Given the description of an element on the screen output the (x, y) to click on. 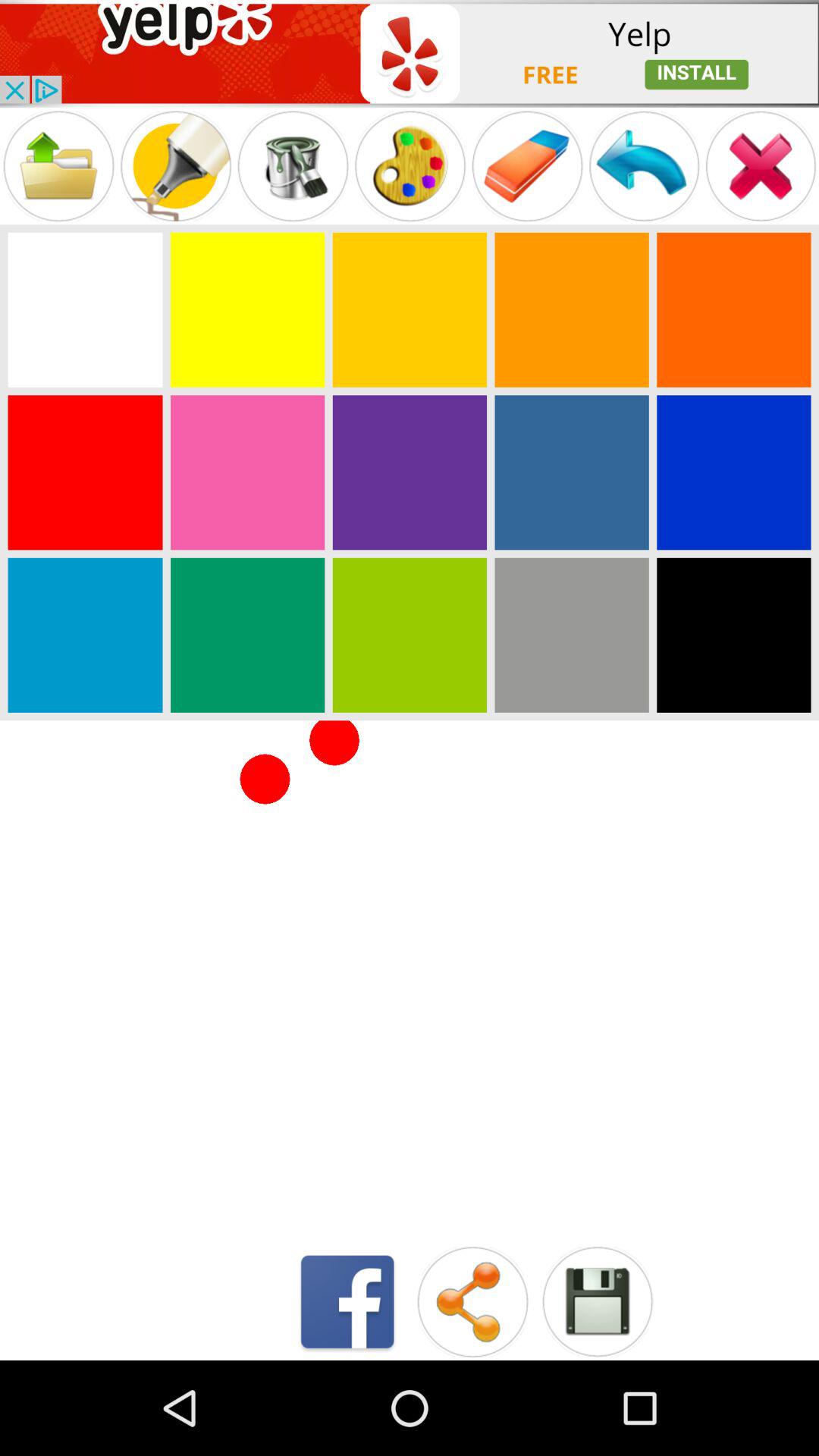
undo (643, 165)
